Given the description of an element on the screen output the (x, y) to click on. 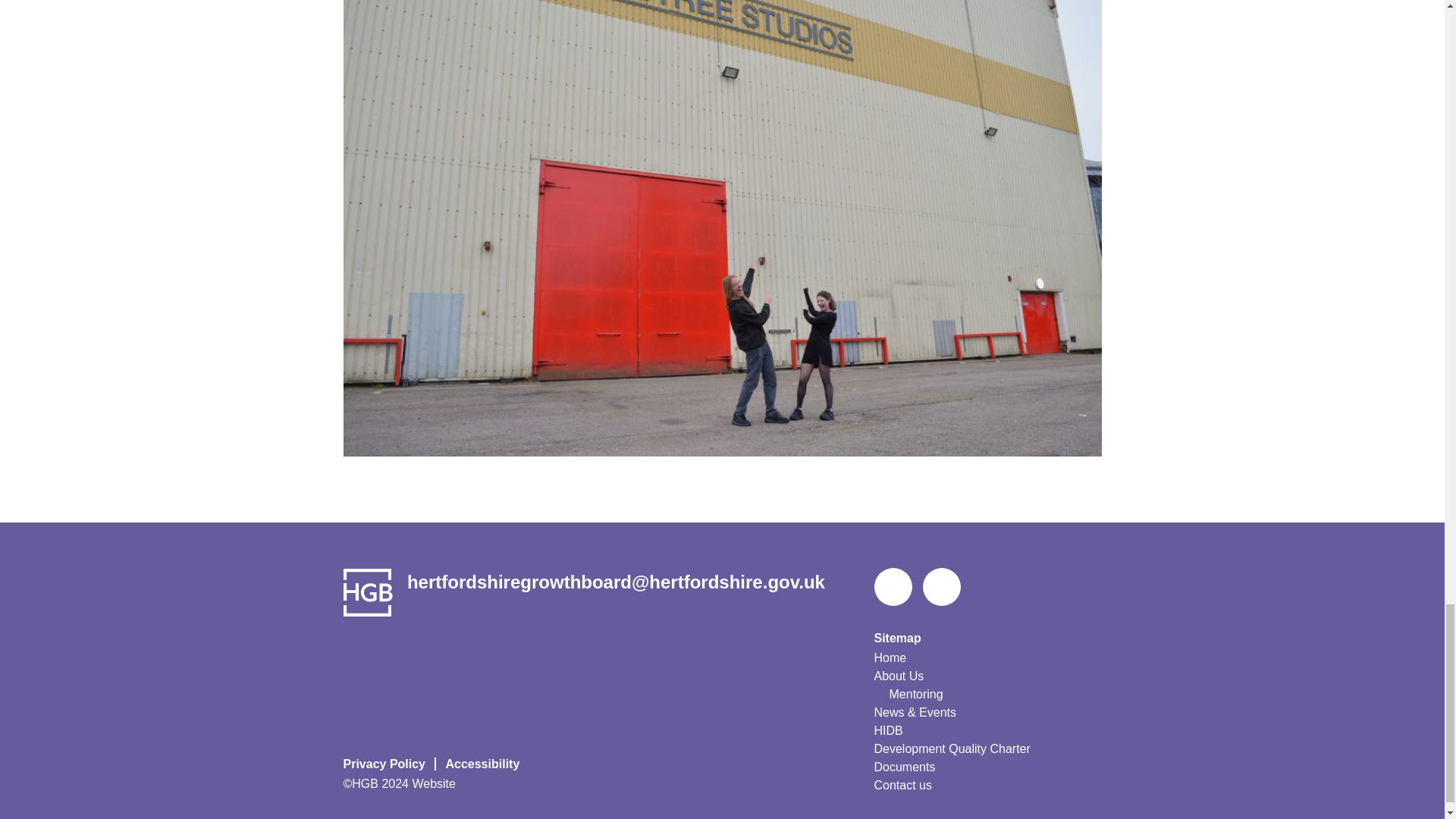
HIDB (887, 730)
Home (889, 658)
Development Quality Charter (951, 749)
About Us (898, 676)
Mentoring (915, 694)
Privacy Policy (388, 763)
Contact us (902, 785)
Accessibility (483, 763)
Documents (903, 767)
